Given the description of an element on the screen output the (x, y) to click on. 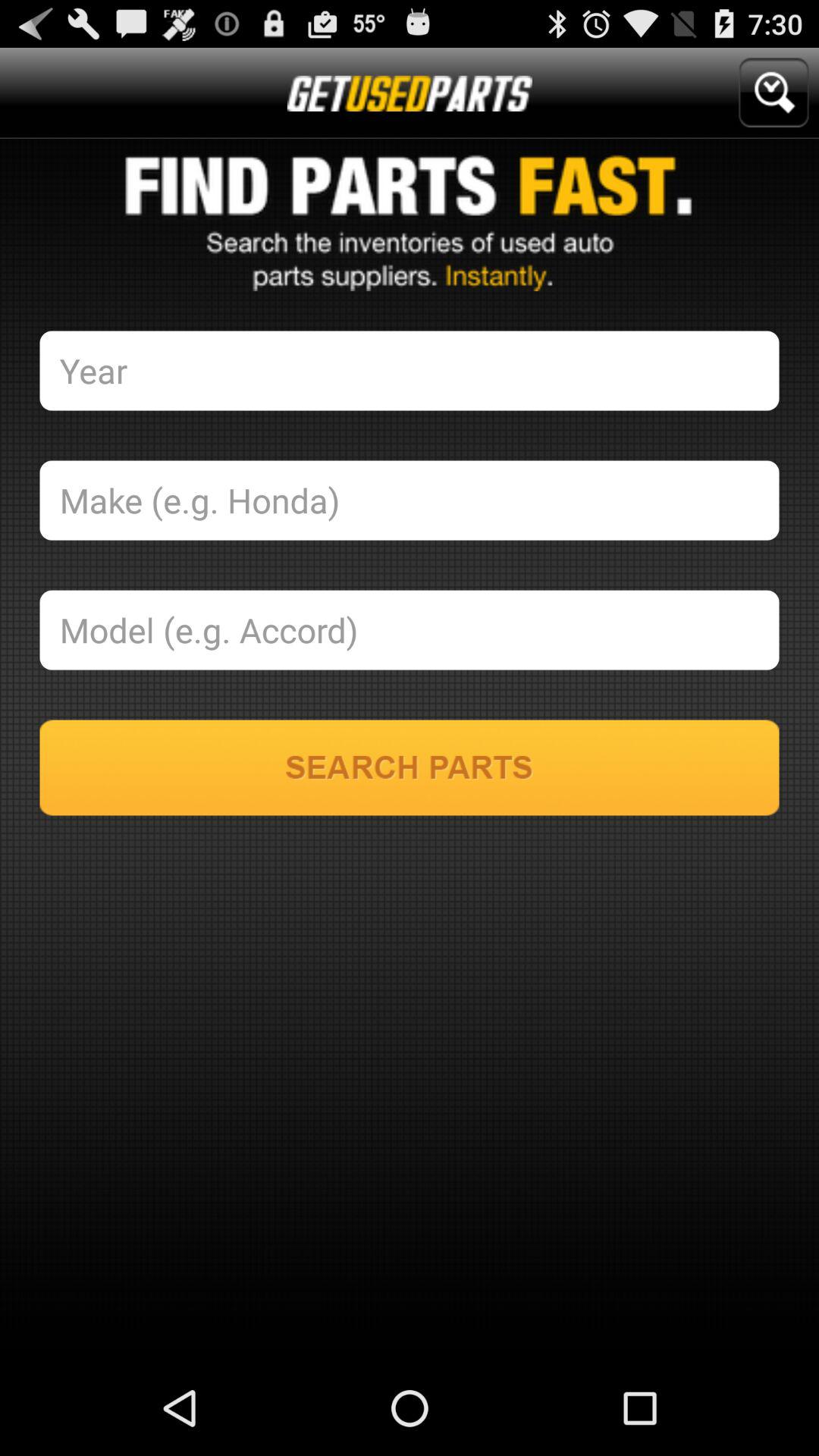
press icon at the top right corner (773, 92)
